Given the description of an element on the screen output the (x, y) to click on. 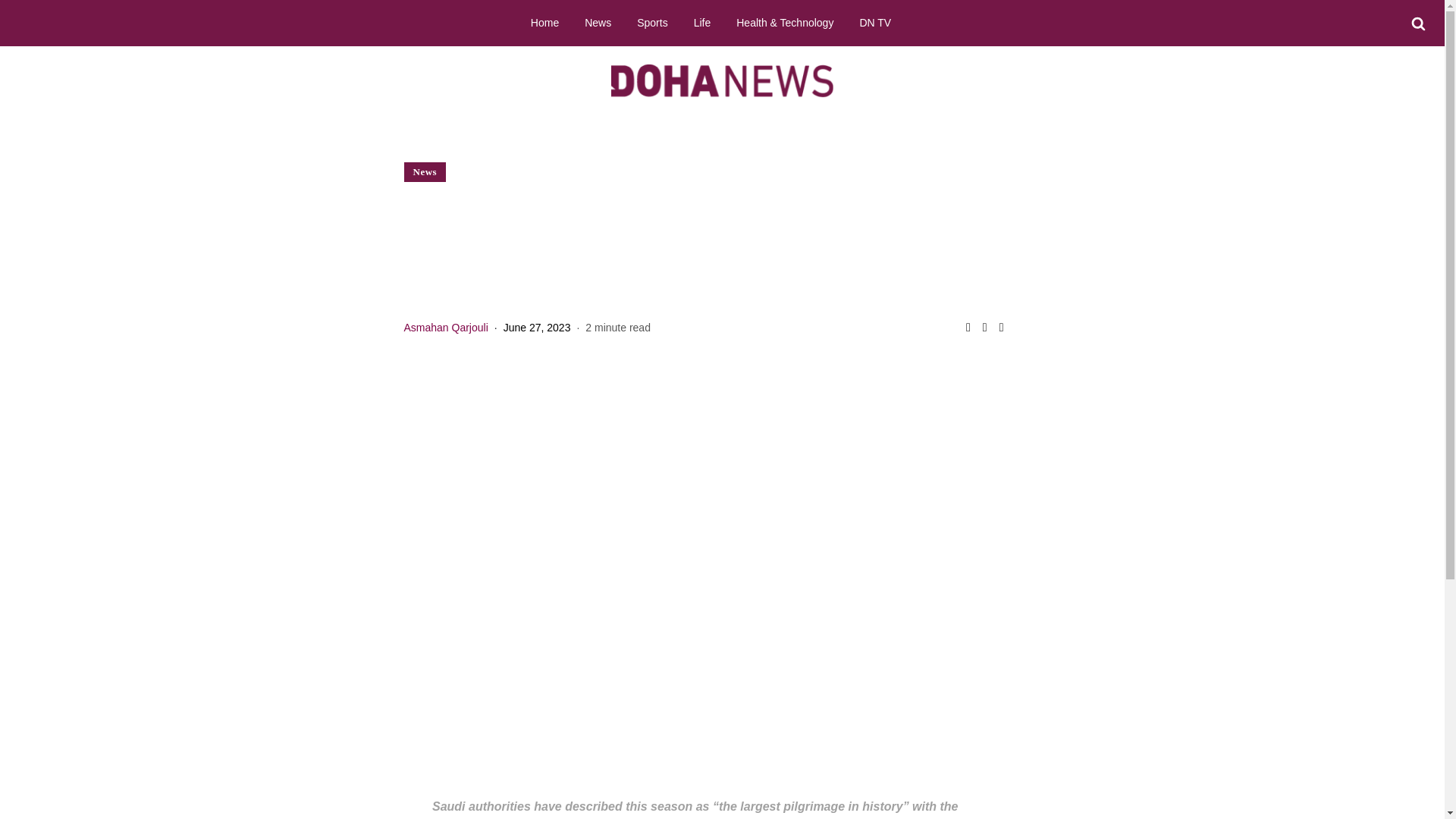
Home (545, 22)
DN TV (875, 22)
View all posts by Asmahan Qarjouli (445, 327)
Life (702, 22)
Sports (651, 22)
June 27, 2023 (536, 327)
News (424, 171)
Search (1417, 23)
News (598, 22)
Asmahan Qarjouli (445, 327)
